Given the description of an element on the screen output the (x, y) to click on. 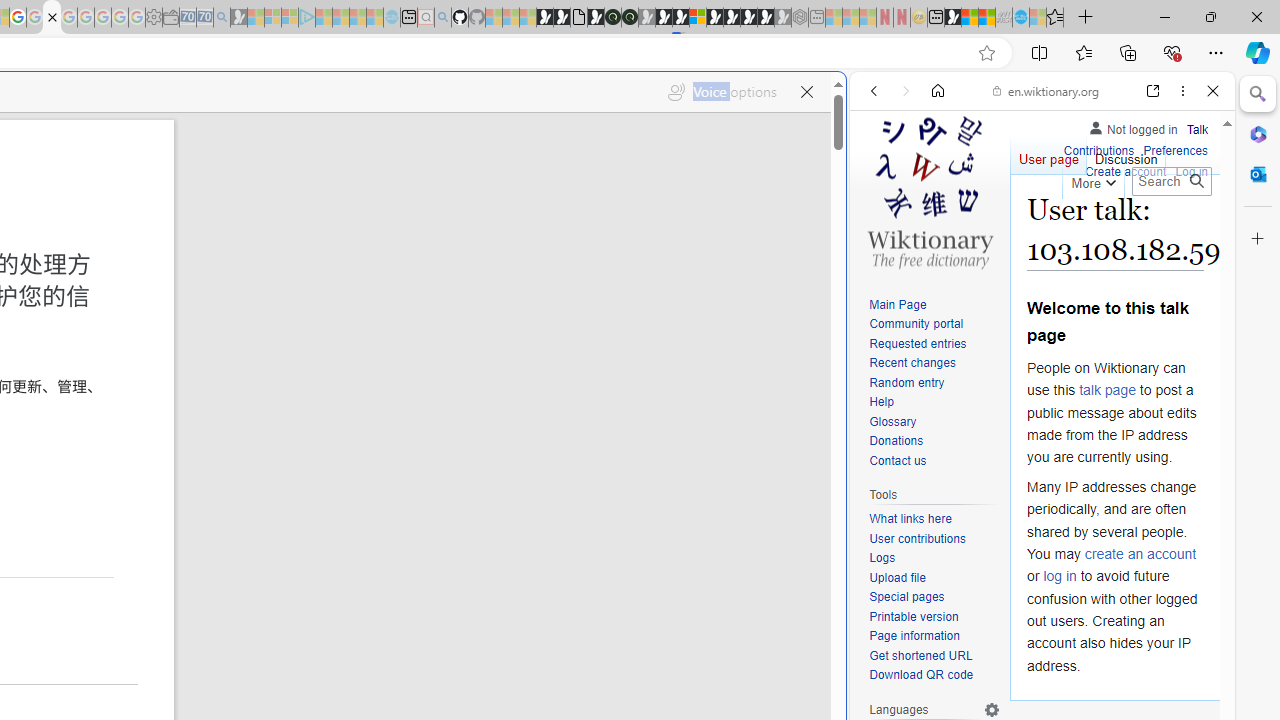
Logs (882, 557)
Language settings (992, 709)
User contributions (934, 539)
Play Free Online Games | Games from Microsoft Start (731, 17)
Create account (1125, 169)
Recent changes (912, 362)
Contributions (1098, 148)
Page information (914, 636)
Play Zoo Boom in your browser | Games from Microsoft Start (561, 17)
Microsoft Start Gaming - Sleeping (238, 17)
Forward (906, 91)
log in (1059, 576)
